Given the description of an element on the screen output the (x, y) to click on. 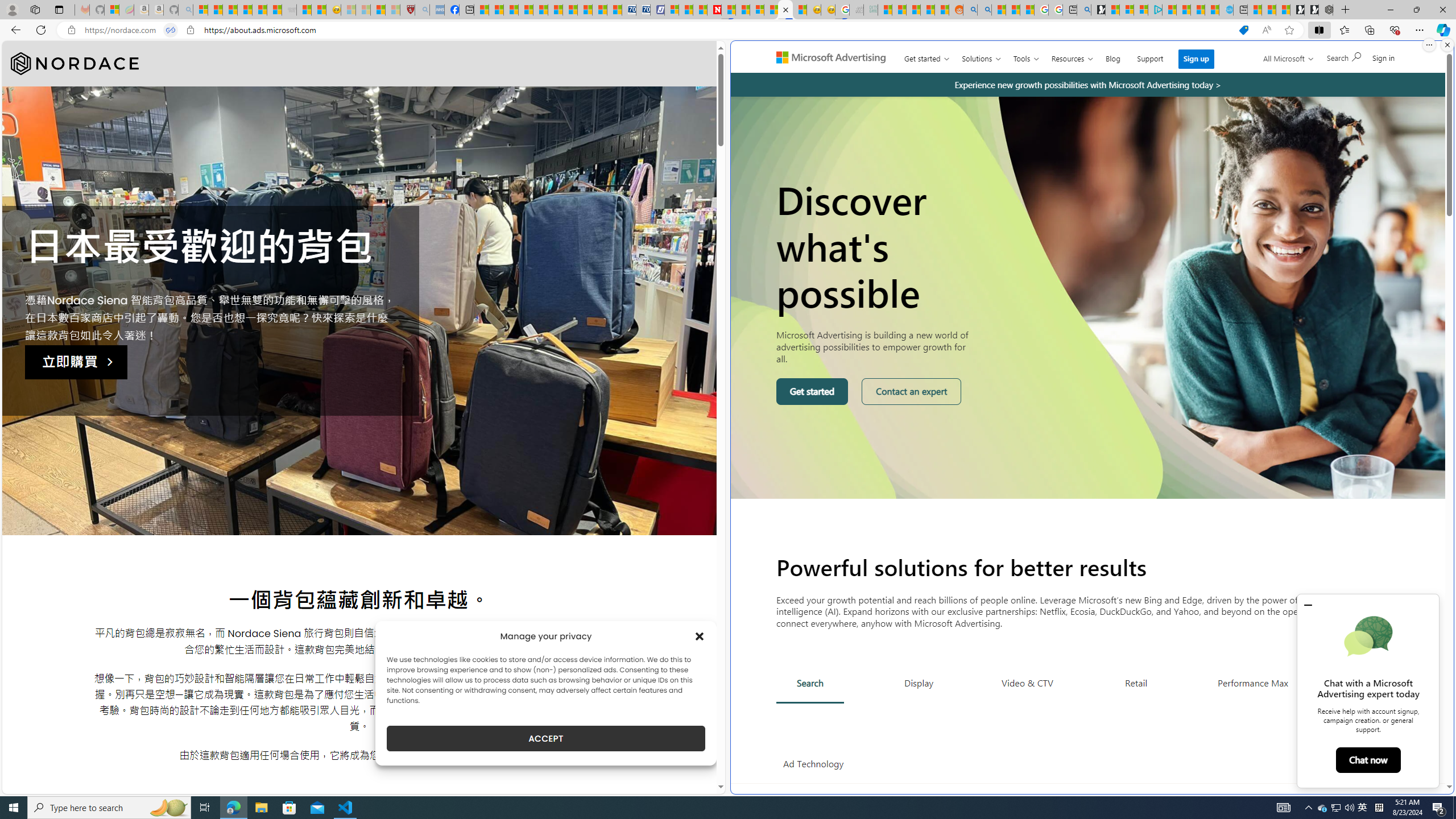
Ad Technology (813, 763)
A smiling woman looking into the horizon. (1087, 297)
